Given the description of an element on the screen output the (x, y) to click on. 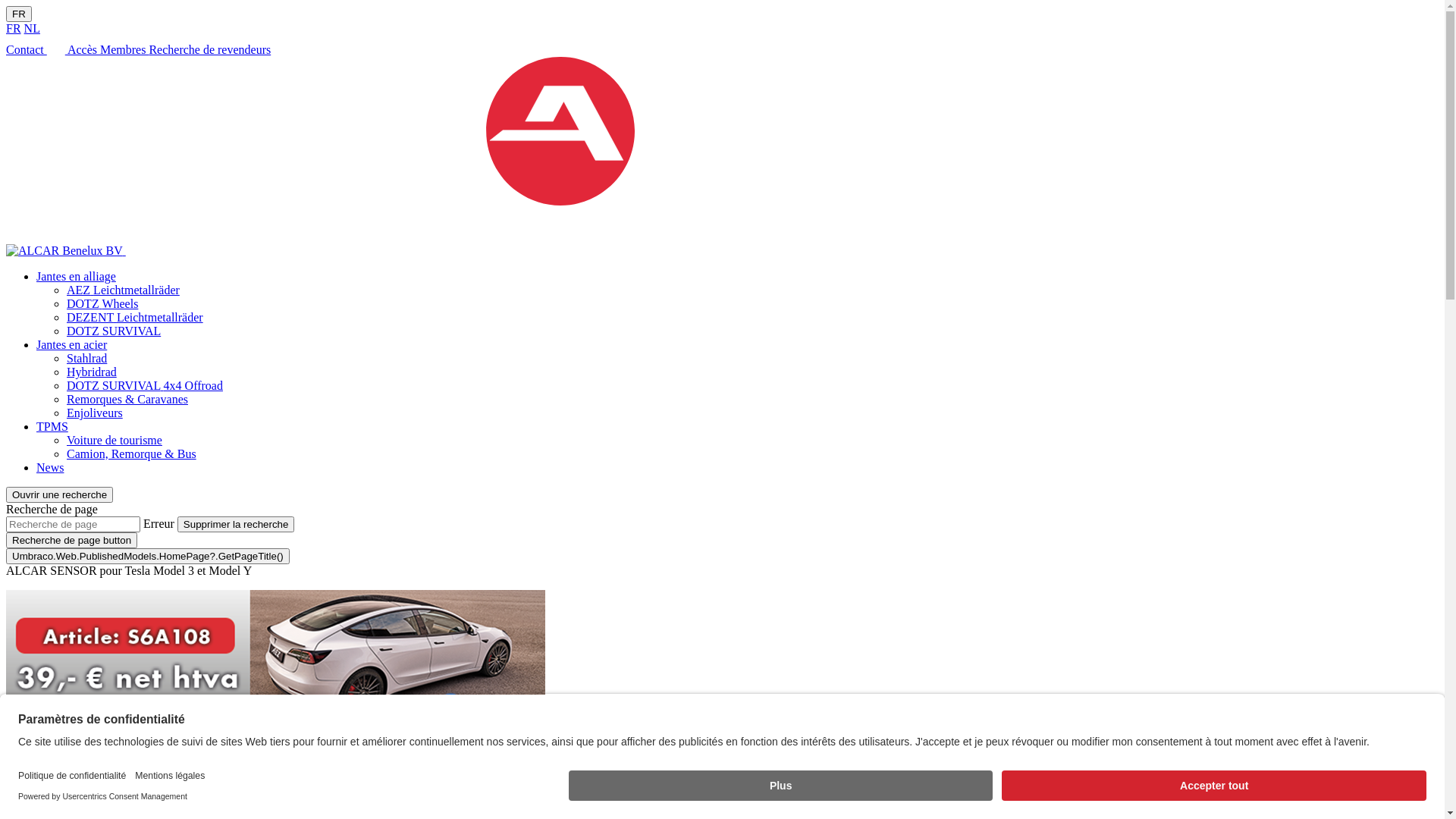
NL Element type: text (32, 27)
FR Element type: text (18, 13)
Umbraco.Web.PublishedModels.HomePage?.GetPageTitle() Element type: text (147, 556)
Stahlrad Element type: text (86, 357)
Ouvrir une recherche Element type: text (59, 494)
News Element type: text (49, 467)
Recherche de page button Element type: text (71, 540)
Voiture de tourisme Element type: text (114, 439)
TPMS Element type: text (52, 426)
DOTZ SURVIVAL Element type: text (113, 330)
Jantes en acier Element type: text (71, 344)
Remorques & Caravanes Element type: text (127, 398)
Supprimer la recherche Element type: text (235, 524)
Jantes en alliage Element type: text (76, 275)
Contact Element type: text (26, 49)
Enjoliveurs Element type: text (94, 412)
DOTZ Wheels Element type: text (102, 303)
DOTZ SURVIVAL 4x4 Offroad Element type: text (144, 385)
Camion, Remorque & Bus Element type: text (131, 453)
Hybridrad Element type: text (91, 371)
FR Element type: text (13, 27)
Recherche de revendeurs Element type: text (209, 49)
